Given the description of an element on the screen output the (x, y) to click on. 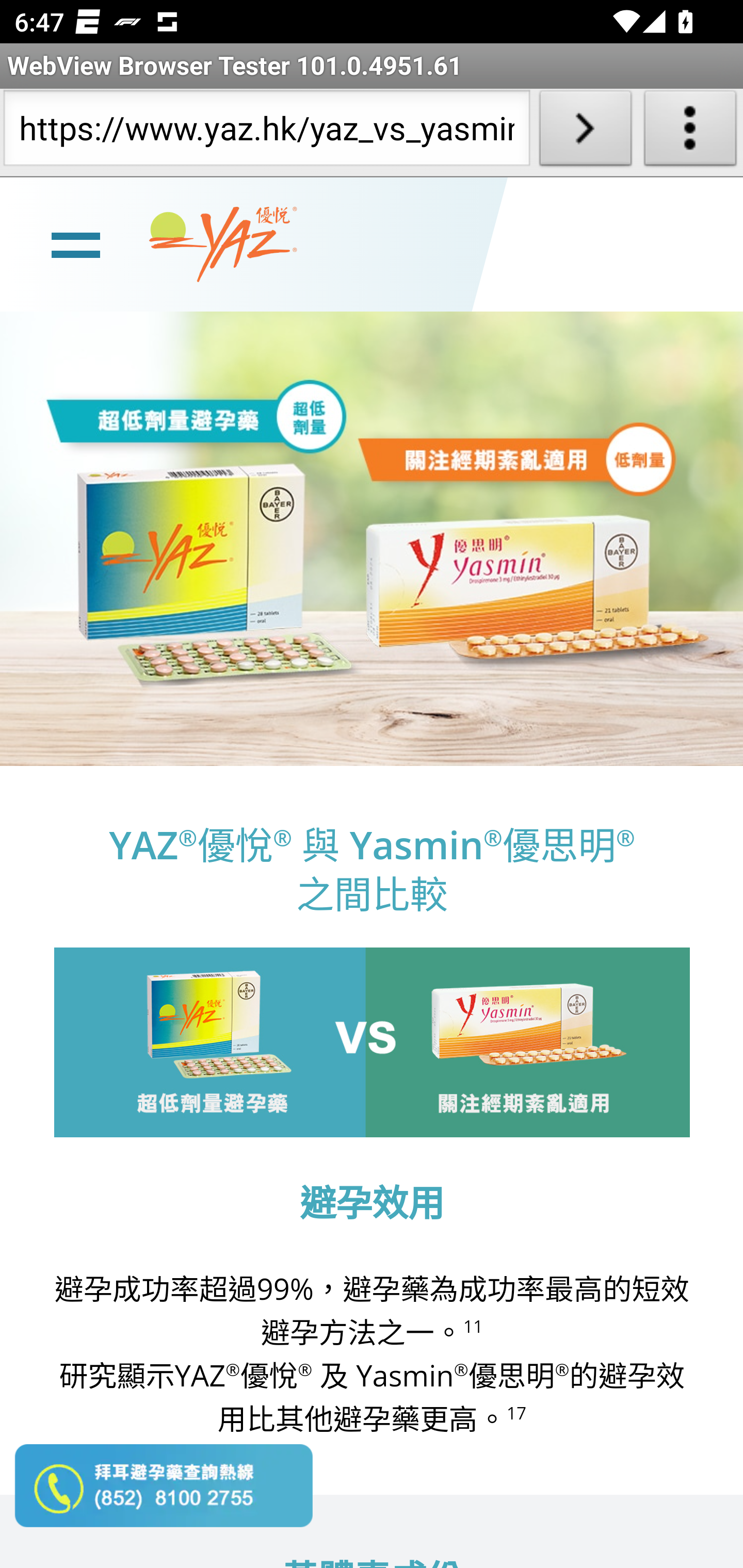
Load URL (585, 132)
About WebView (690, 132)
www.yaz (222, 244)
line Toggle burger menu (75, 242)
